Given the description of an element on the screen output the (x, y) to click on. 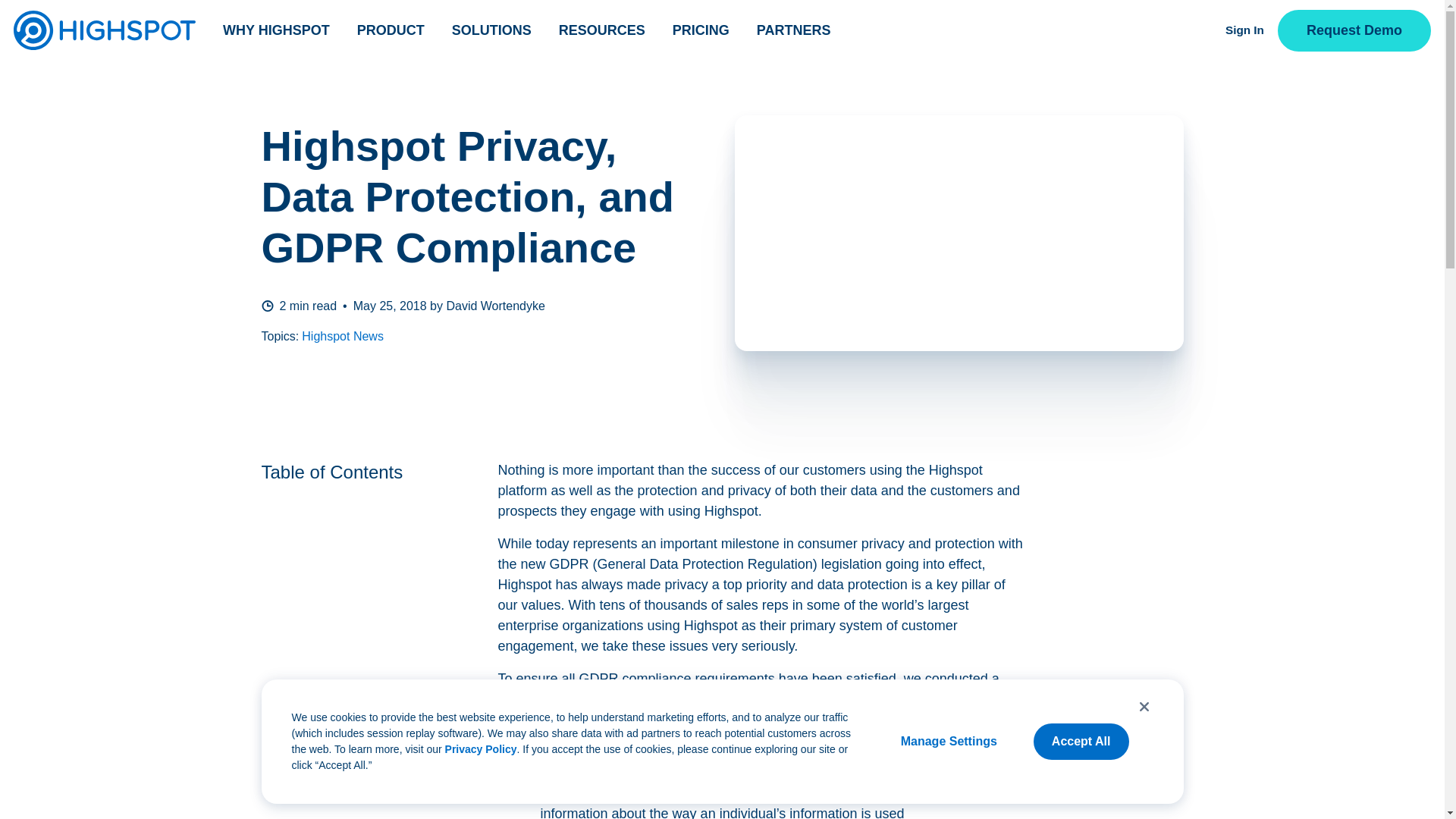
Privacy Policy (480, 748)
Manage Settings (948, 741)
Accept All (1081, 741)
